Given the description of an element on the screen output the (x, y) to click on. 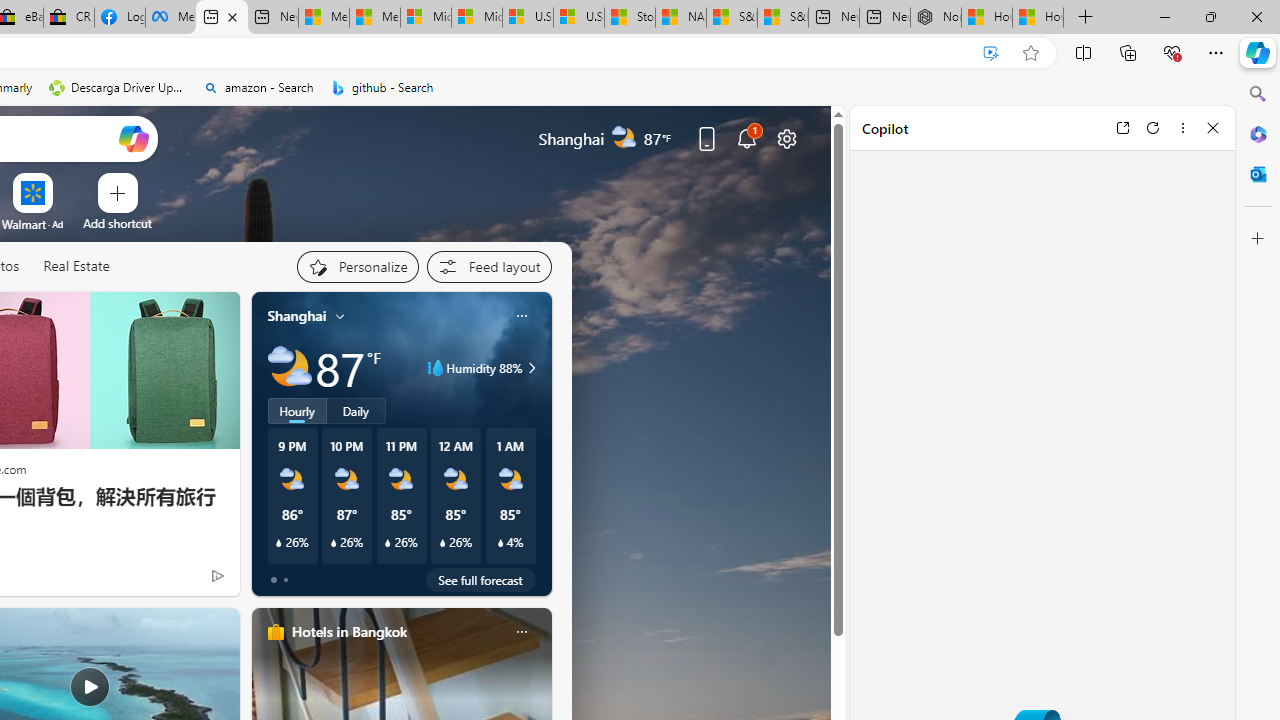
hotels-header-icon (275, 632)
Descarga Driver Updater (118, 88)
tab-0 (273, 579)
Log into Facebook (119, 17)
Class: weather-current-precipitation-glyph (500, 543)
Outlook (1258, 174)
